Given the description of an element on the screen output the (x, y) to click on. 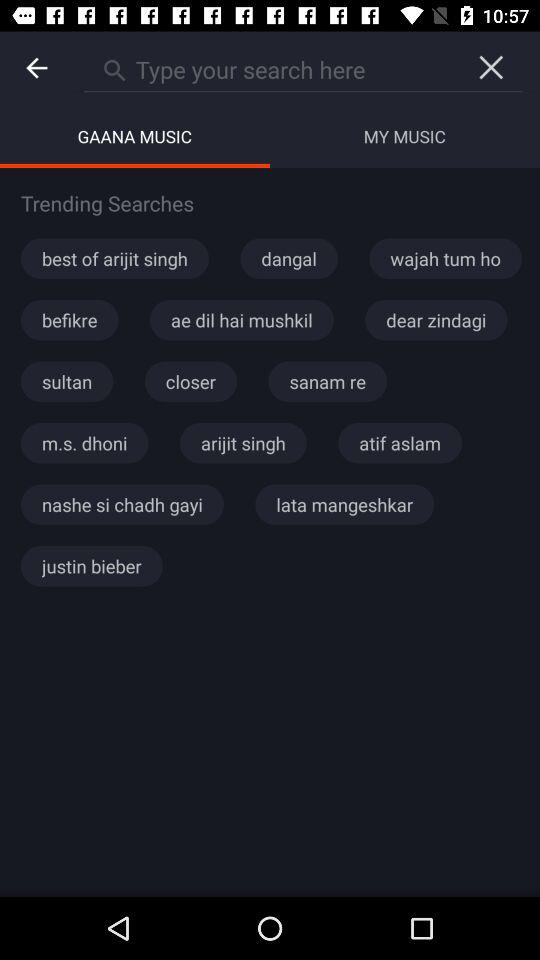
tap the dangal app (288, 258)
